Given the description of an element on the screen output the (x, y) to click on. 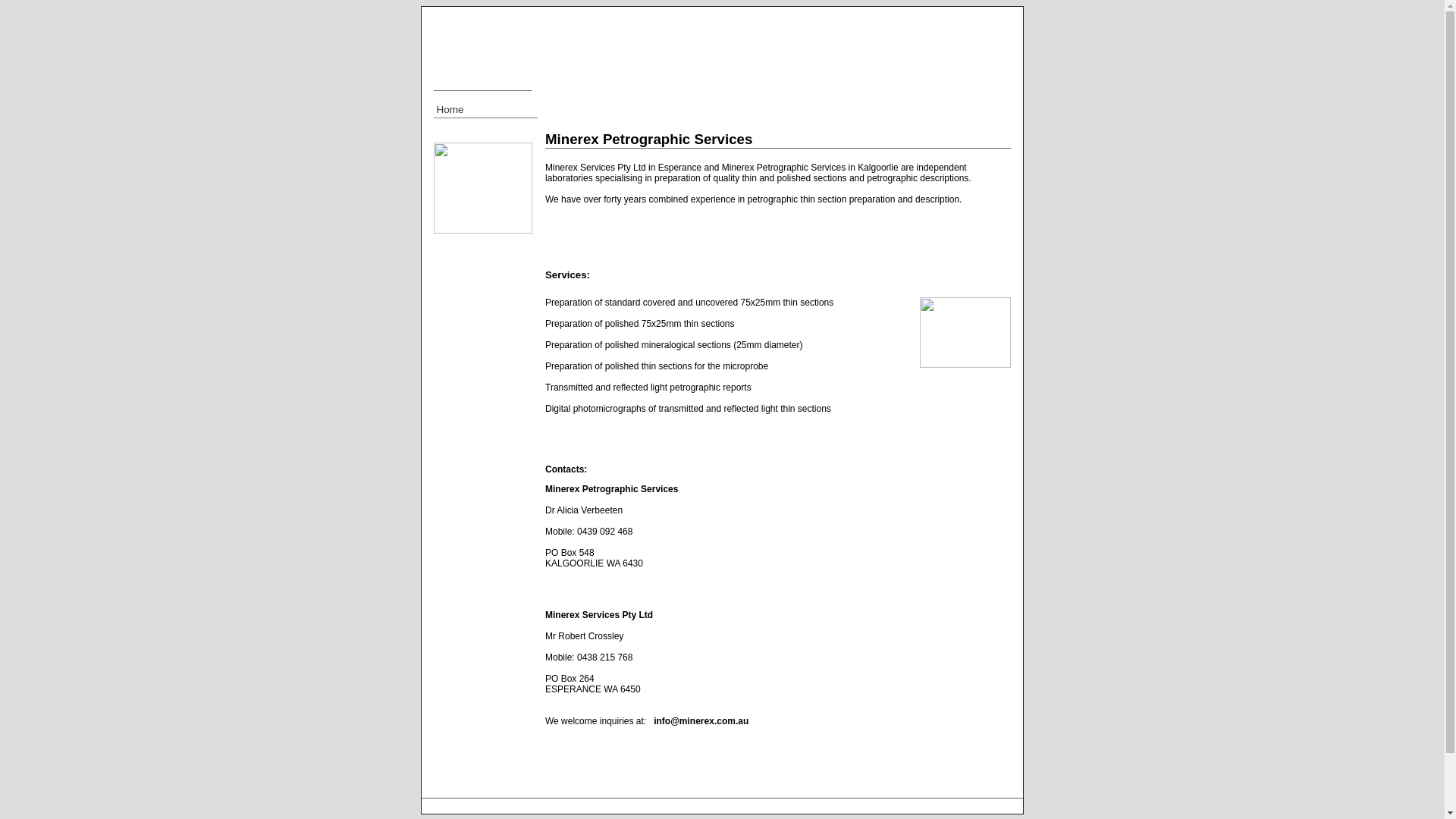
Home Element type: text (485, 110)
